Given the description of an element on the screen output the (x, y) to click on. 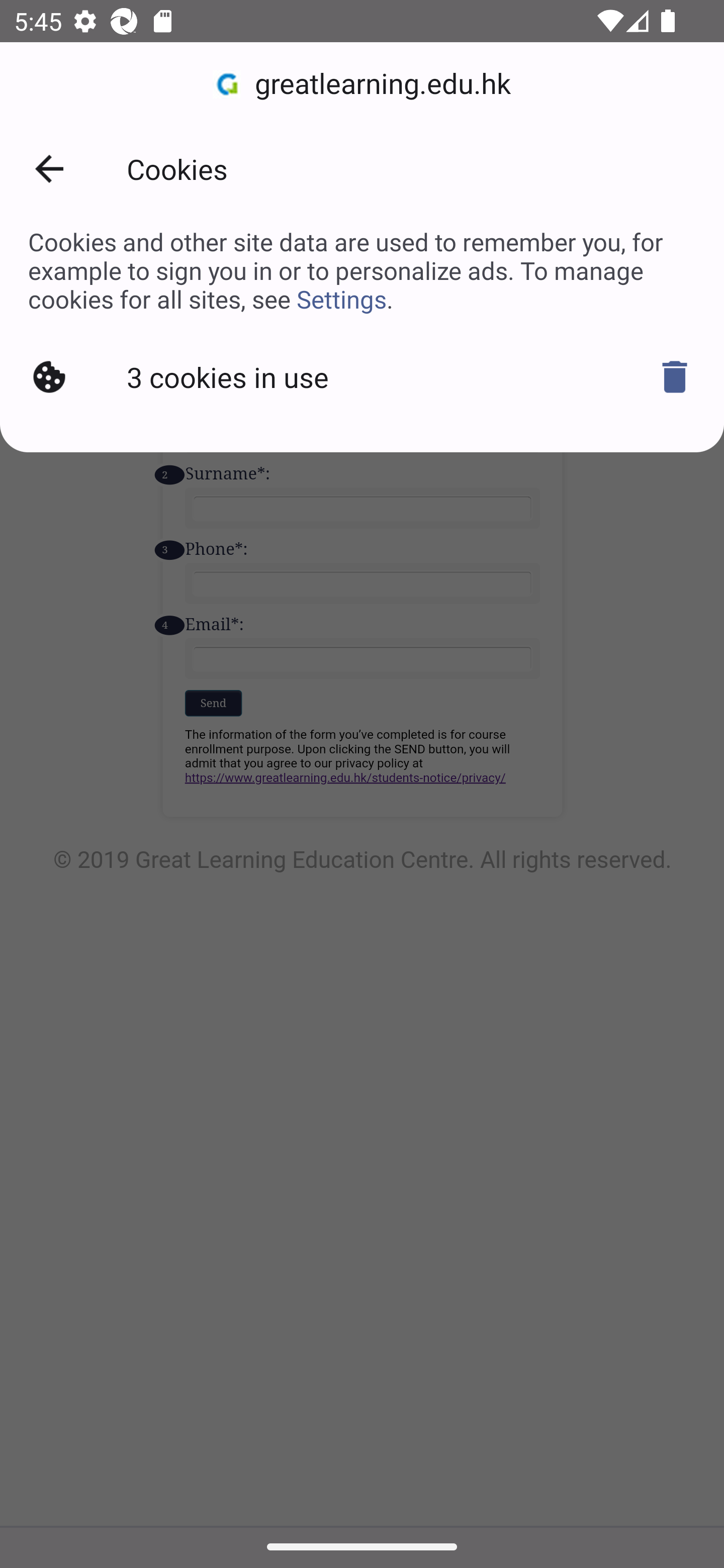
greatlearning.edu.hk (362, 84)
Back (49, 169)
3 cookies in use Clear cookies? (362, 376)
